Given the description of an element on the screen output the (x, y) to click on. 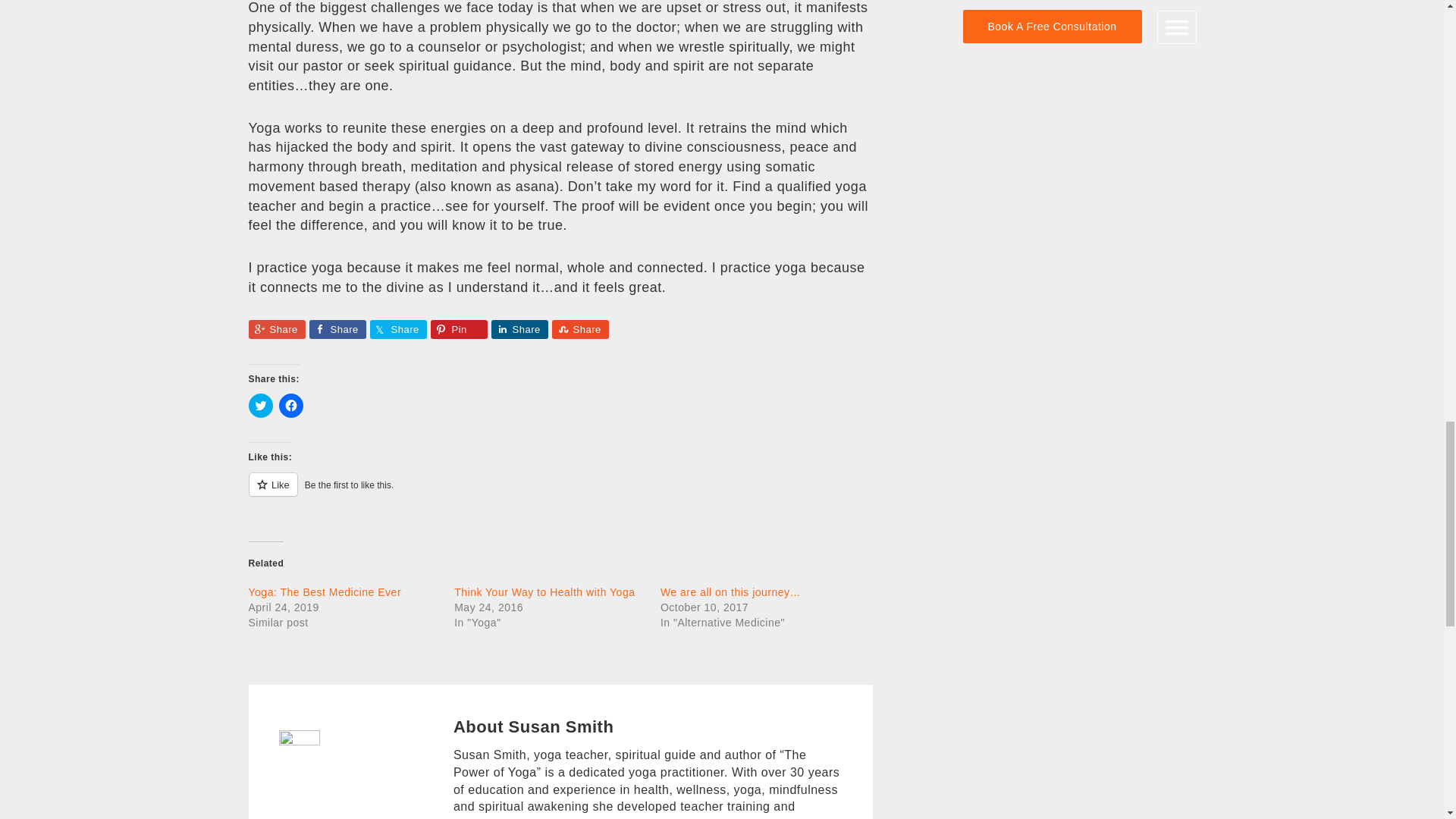
Like or Reblog (560, 493)
Click to share on Twitter (260, 405)
Yoga: The Best Medicine Ever (324, 592)
Click to share on Facebook (290, 405)
Think Your Way to Health with Yoga (544, 592)
